Given the description of an element on the screen output the (x, y) to click on. 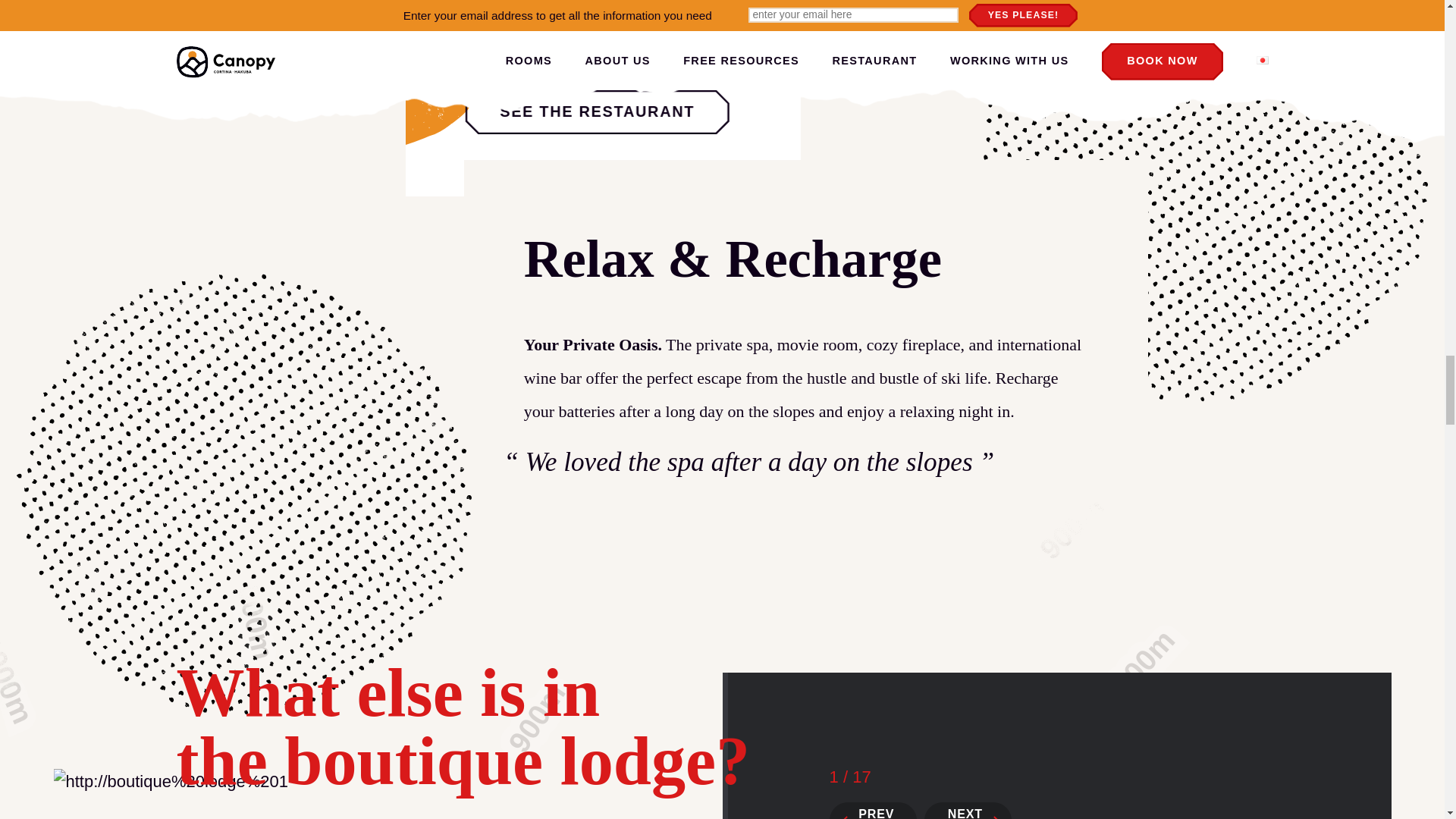
NEXT PHOTO (967, 810)
PREV PHOTO (873, 810)
SEE THE RESTAURANT (597, 112)
View gallery (732, 336)
